Given the description of an element on the screen output the (x, y) to click on. 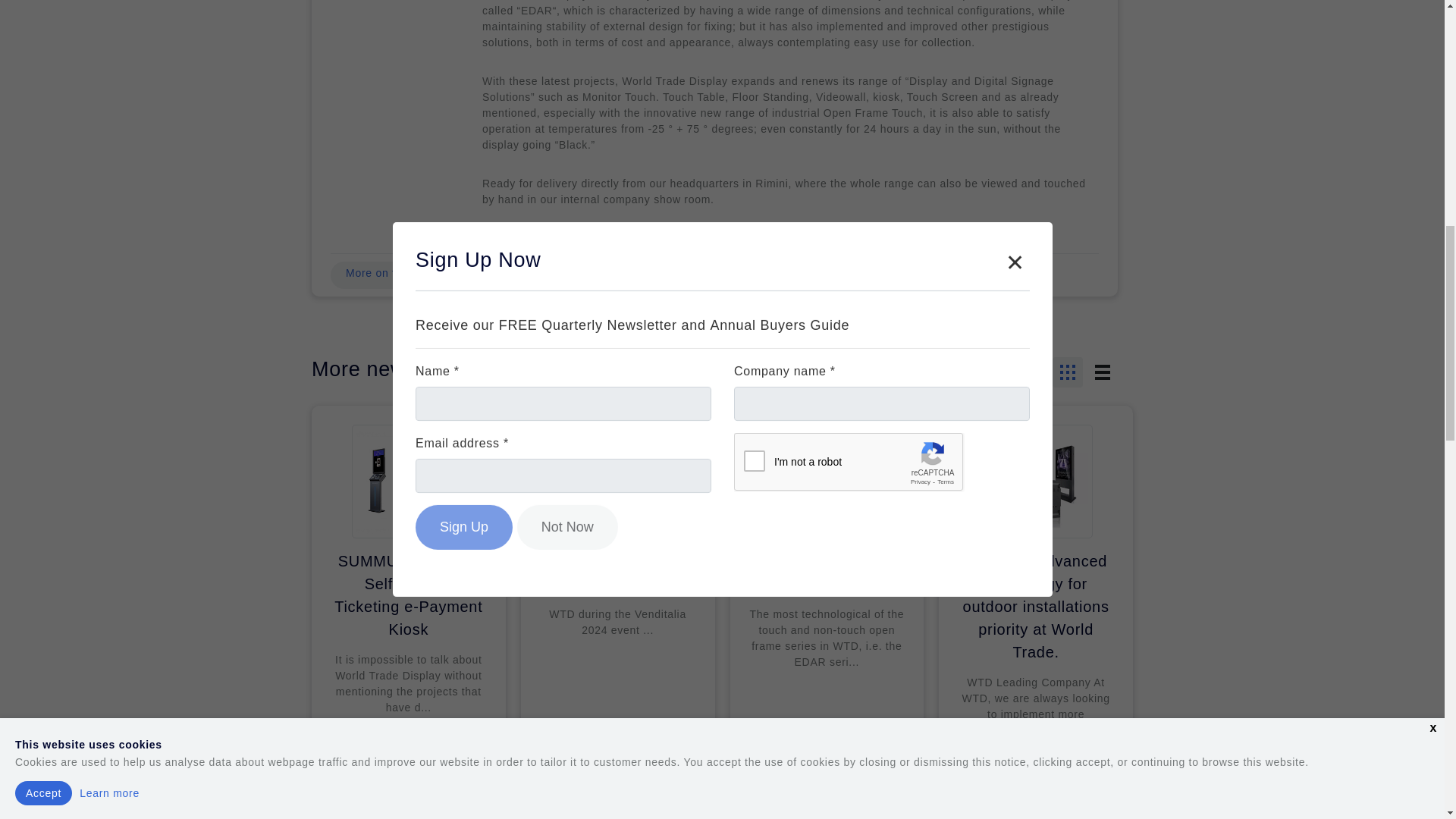
More info (1073, 771)
World Trade Expands their EDAR Series. (827, 572)
SUMMUW The new Self-Service Ticketing e-Payment Kiosk (408, 594)
More info (446, 771)
WTD PREVIEWS AT VENDITALIA 2024 (617, 572)
More info (655, 771)
More info (864, 771)
Email this Company (542, 275)
More on this company (403, 275)
